Given the description of an element on the screen output the (x, y) to click on. 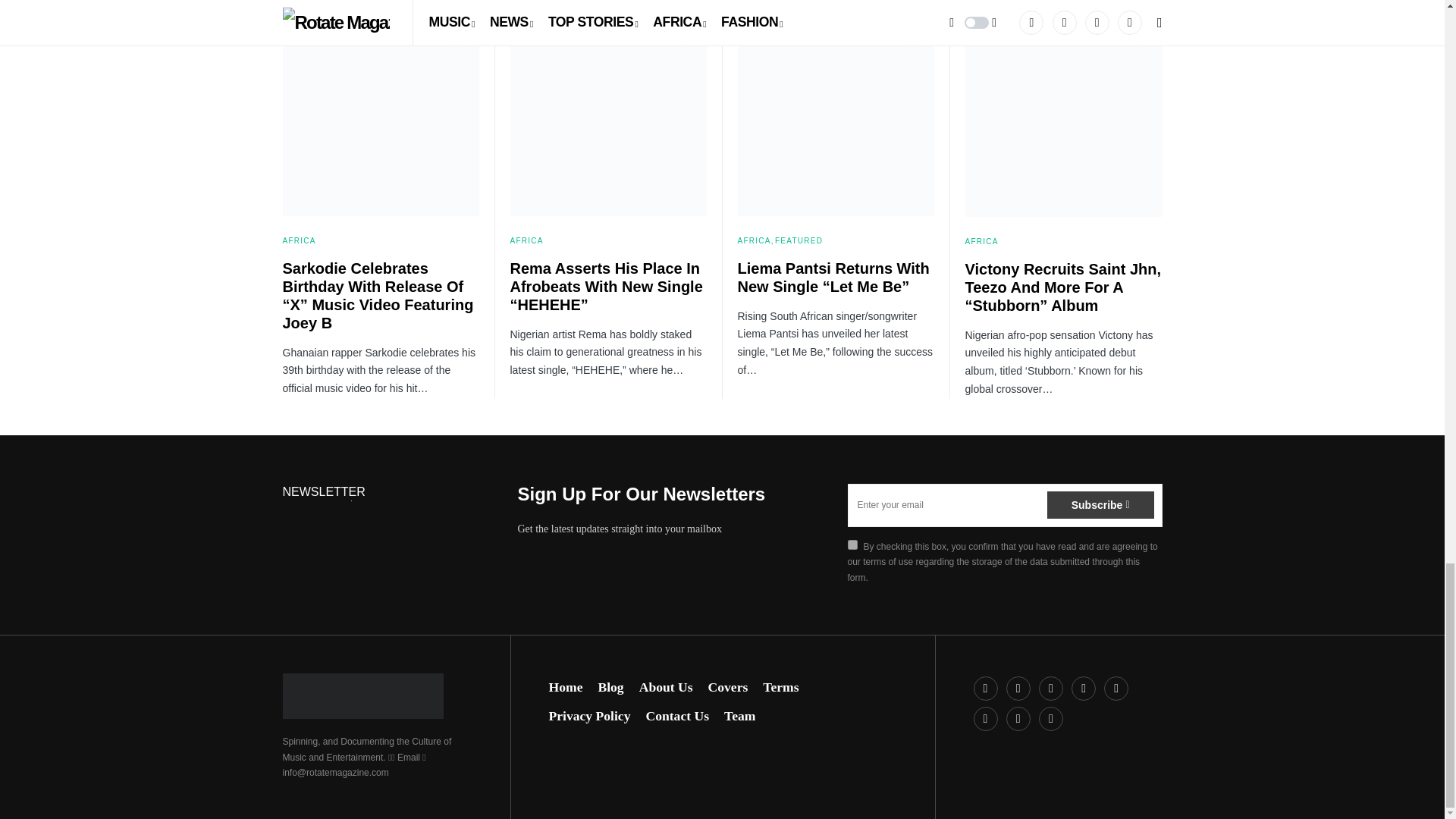
on (852, 544)
